Given the description of an element on the screen output the (x, y) to click on. 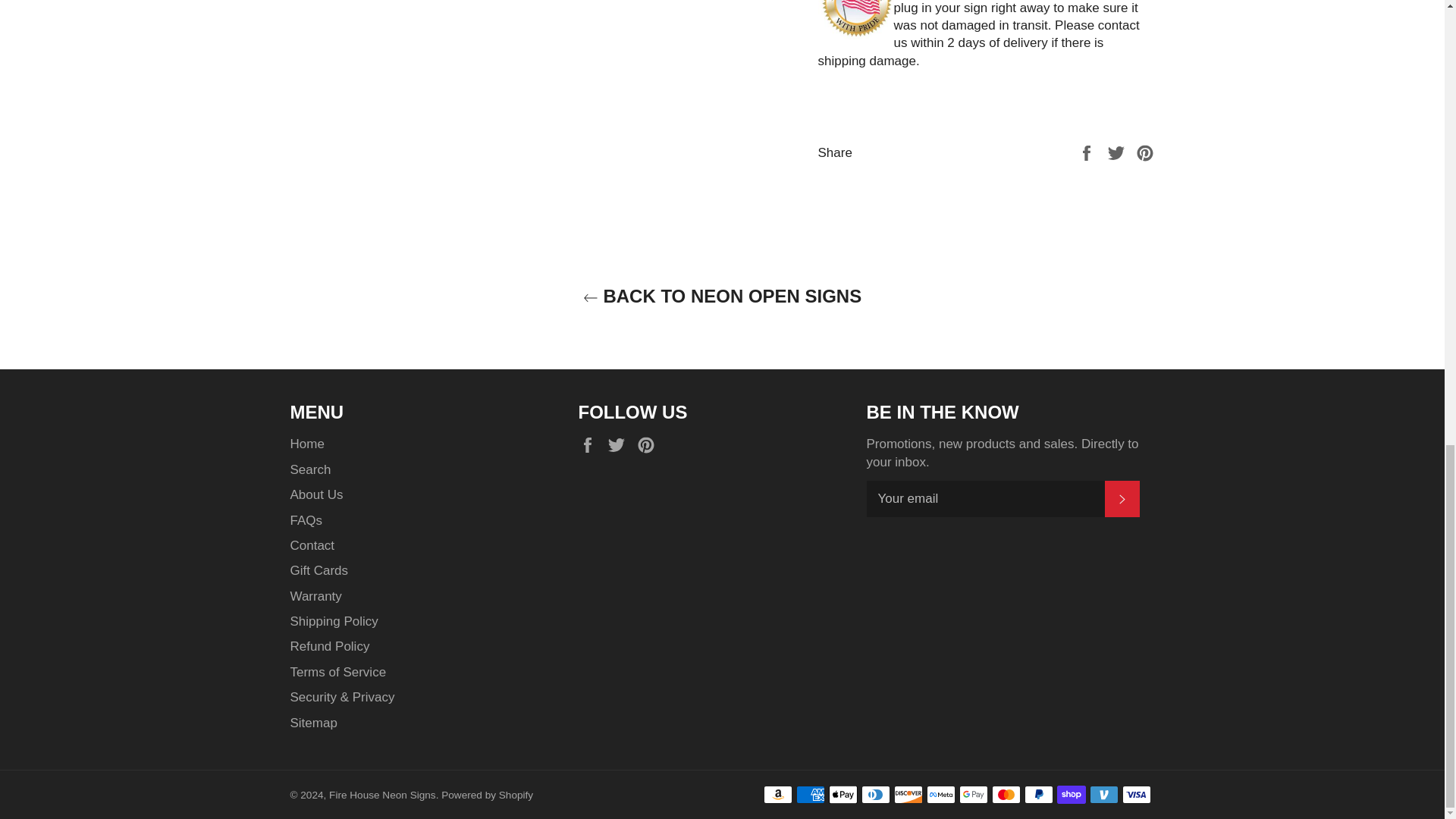
Share on Facebook (1088, 152)
Pin on Pinterest (1144, 152)
Fire House Neon Signs on Pinterest (649, 444)
Tweet on Twitter (1117, 152)
Fire House Neon Signs on Facebook (591, 444)
Fire House Neon Signs on Twitter (620, 444)
